Given the description of an element on the screen output the (x, y) to click on. 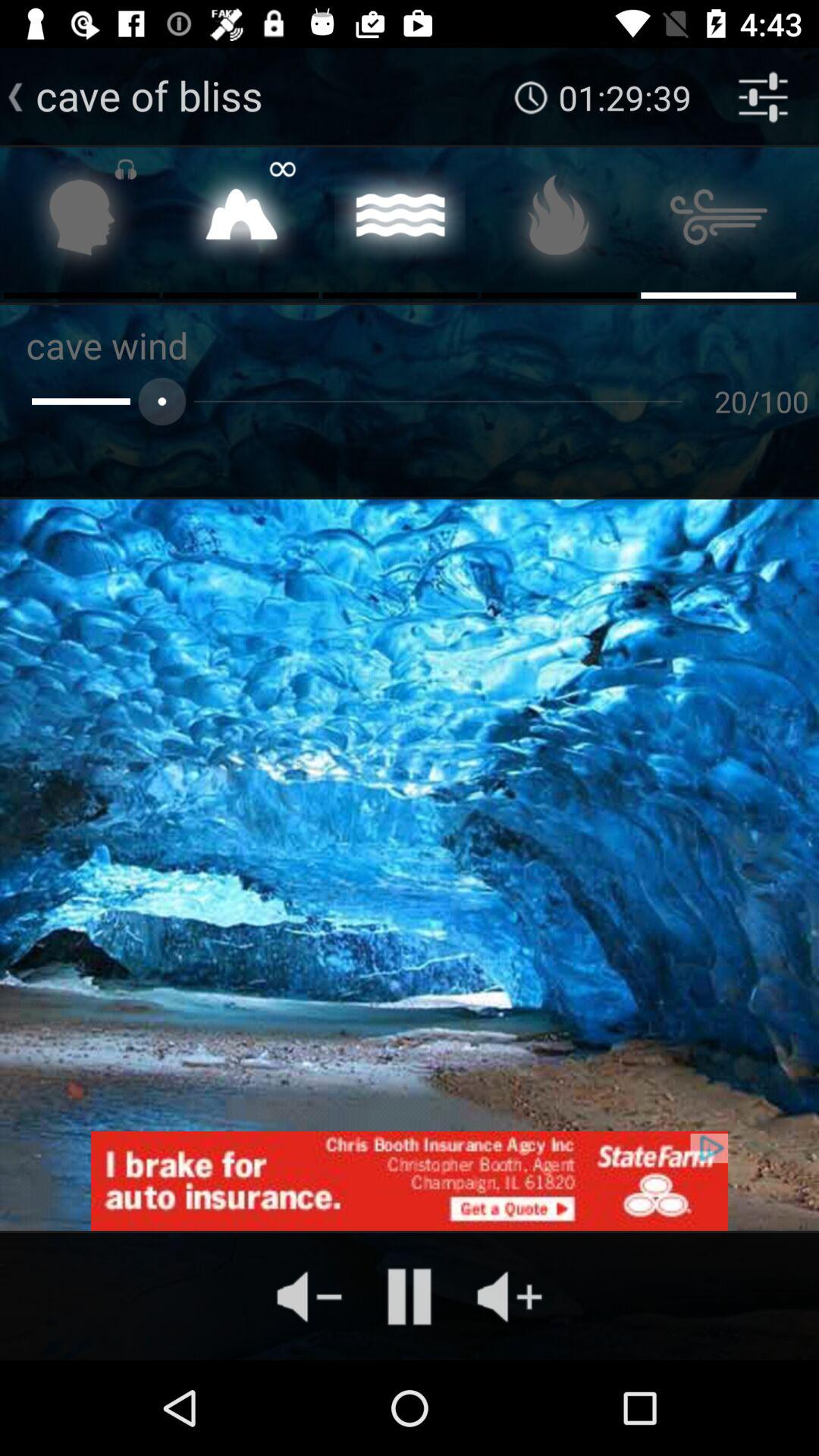
activate wind (718, 221)
